Given the description of an element on the screen output the (x, y) to click on. 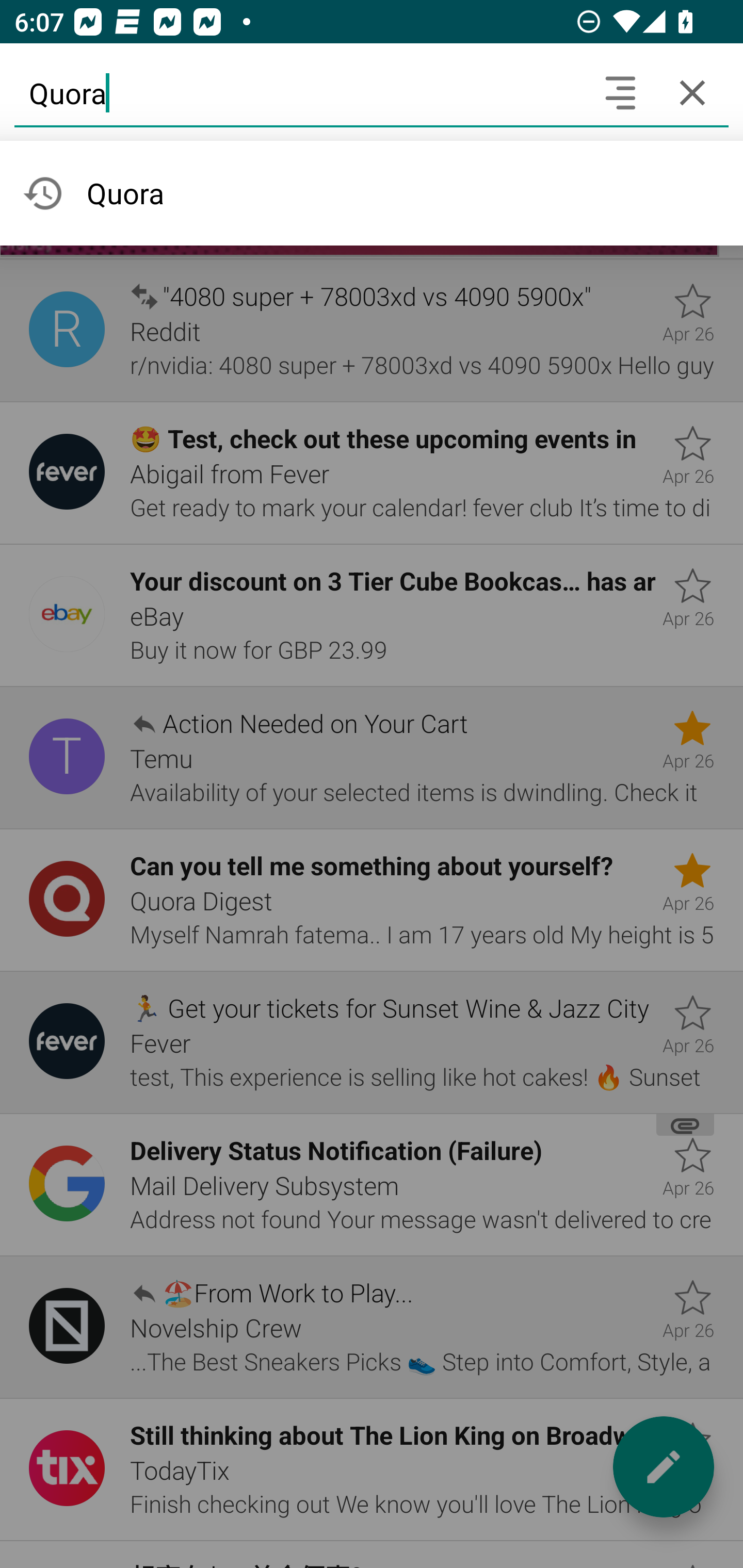
Quora (298, 92)
Search headers and text (619, 92)
Cancel (692, 92)
